Given the description of an element on the screen output the (x, y) to click on. 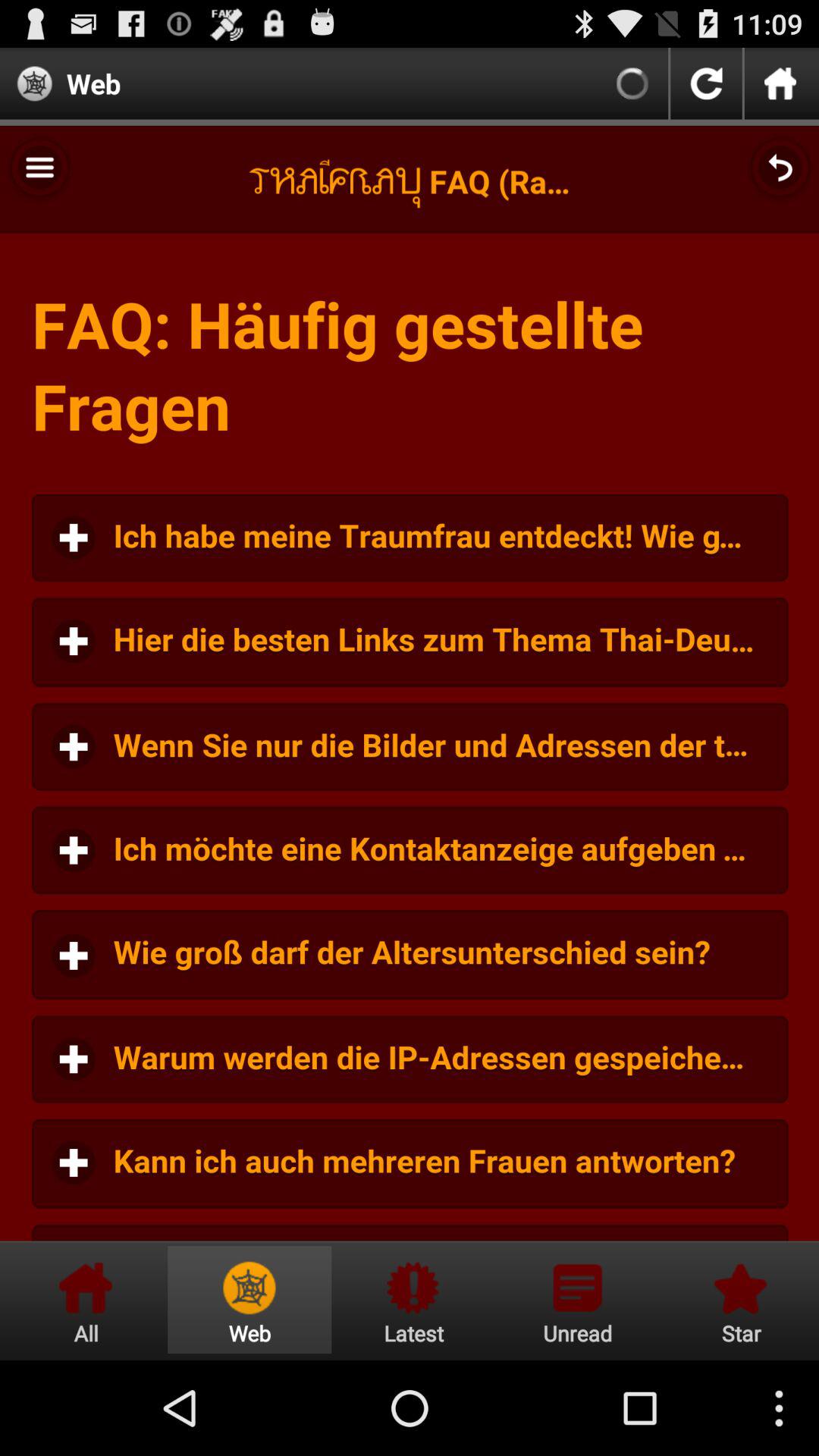
go to favorites (739, 1299)
